Given the description of an element on the screen output the (x, y) to click on. 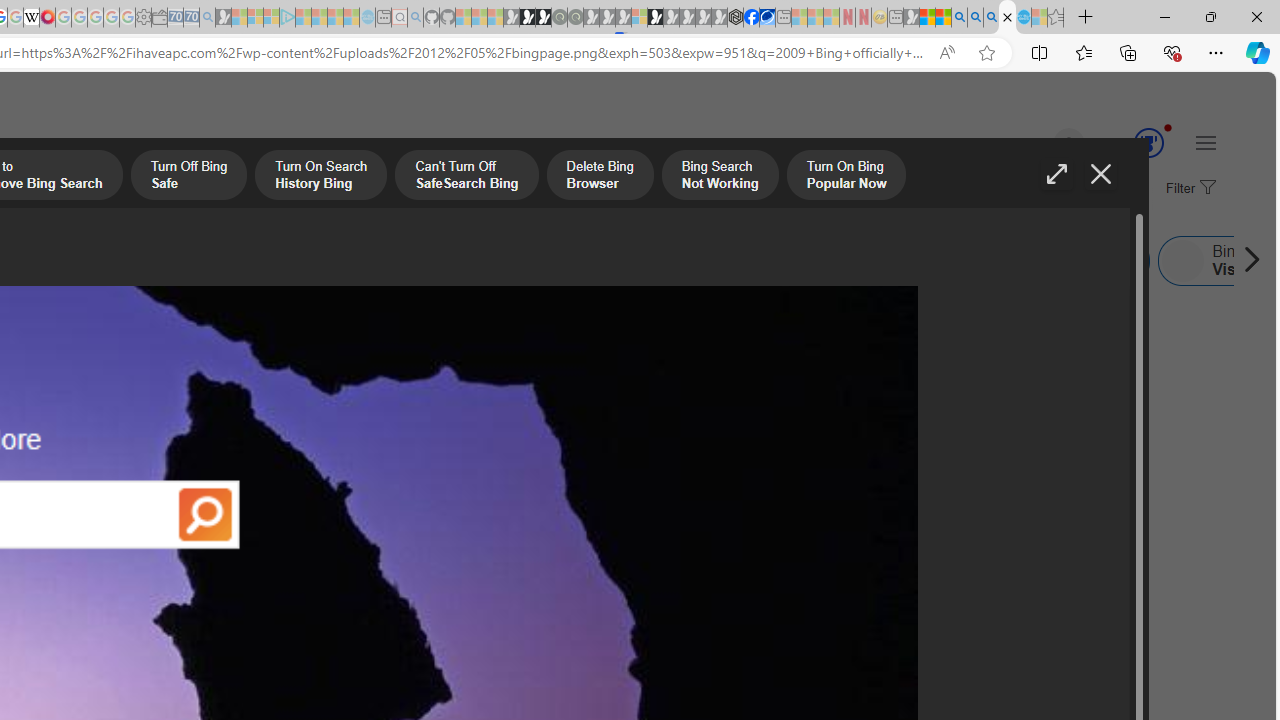
AirNow.gov (767, 17)
Services - Maintenance | Sky Blue Bikes - Sky Blue Bikes (1023, 17)
Microsoft Start Gaming - Sleeping (223, 17)
Owner of Bing Search Engine (597, 260)
Sign in to your account - Sleeping (639, 17)
Close image (1100, 173)
2009 Bing officially replaced Live Search on June 3 - Search (975, 17)
